Given the description of an element on the screen output the (x, y) to click on. 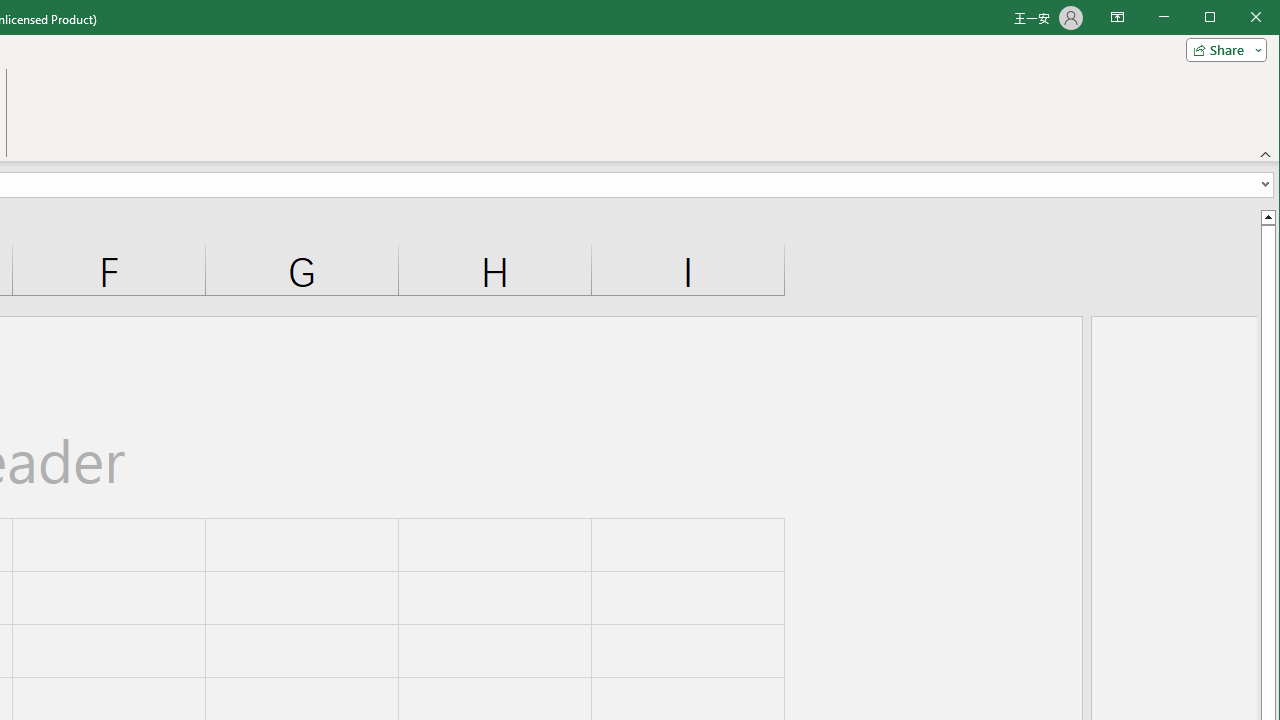
Maximize (1238, 18)
